Given the description of an element on the screen output the (x, y) to click on. 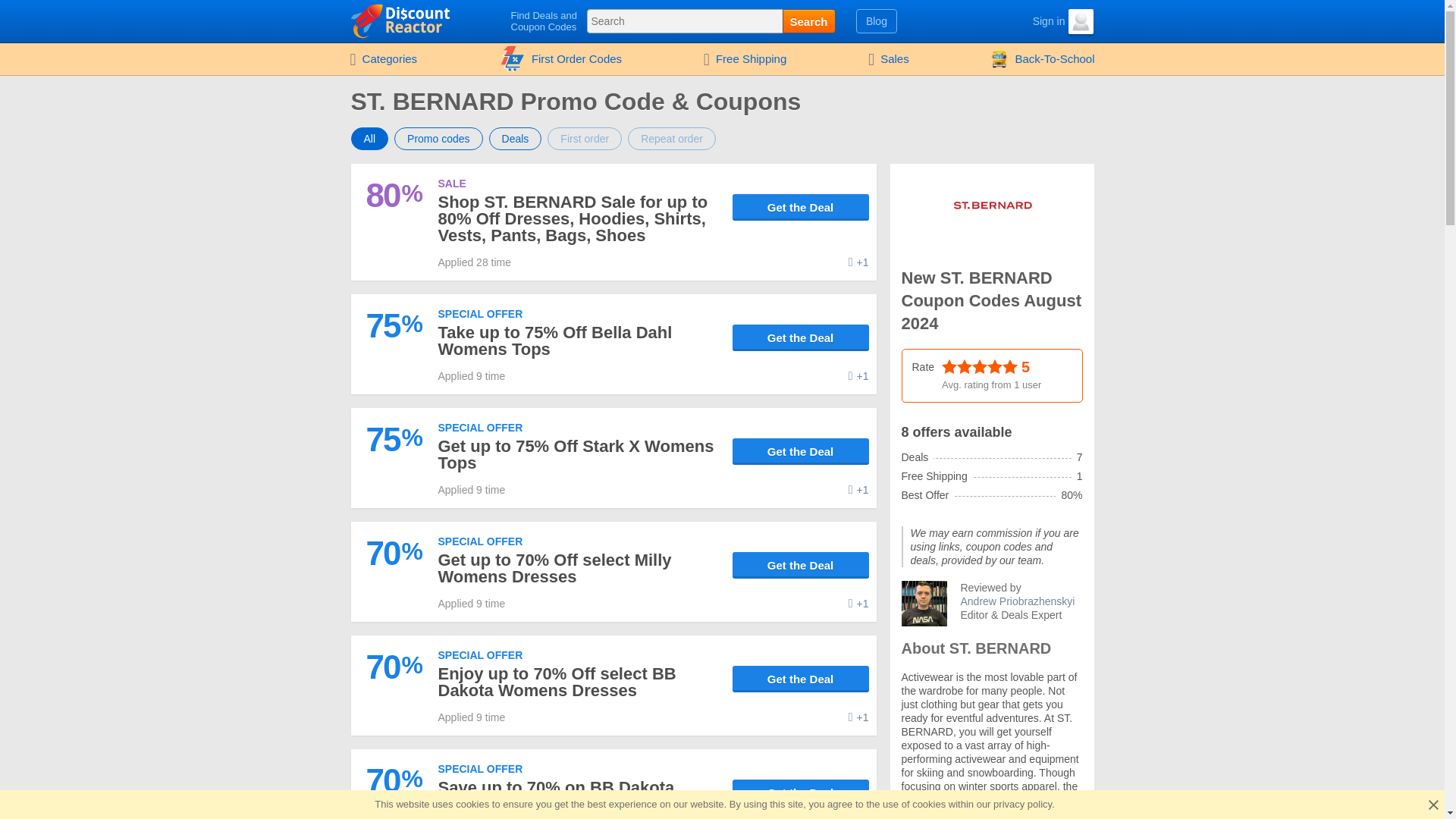
Leave your comment  (858, 489)
Leave your comment  (858, 262)
Get the Deal (800, 207)
Get the Deal (800, 565)
Get the Deal (800, 207)
Back-To-School (1041, 59)
Sign in (1036, 21)
Get the Deal (800, 337)
Free Shipping (745, 59)
Leave your comment  (858, 376)
